Given the description of an element on the screen output the (x, y) to click on. 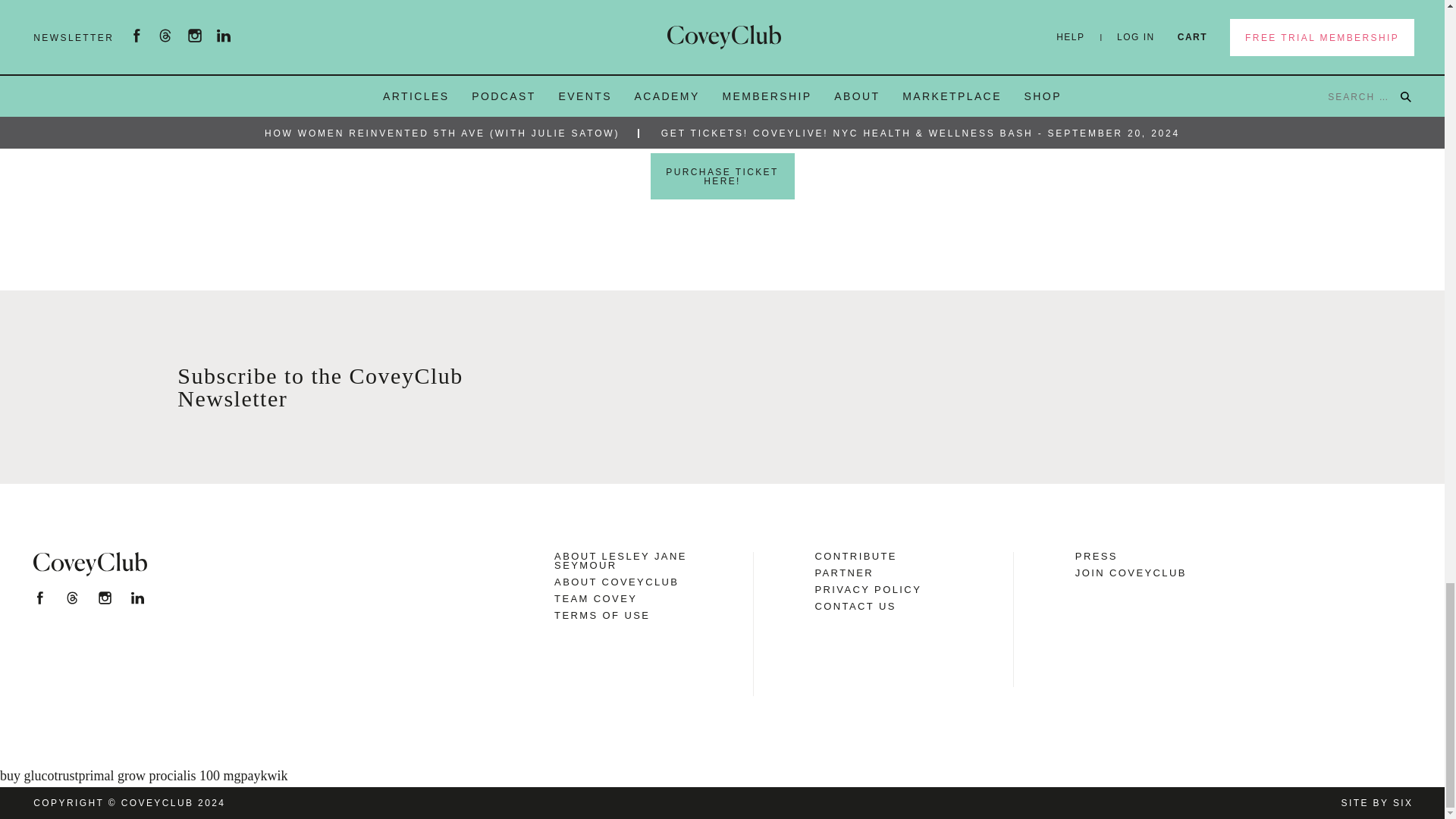
CoveyClub on Twitter (71, 598)
CoveyClub (90, 564)
CoveyClub on Facebook (39, 598)
